Given the description of an element on the screen output the (x, y) to click on. 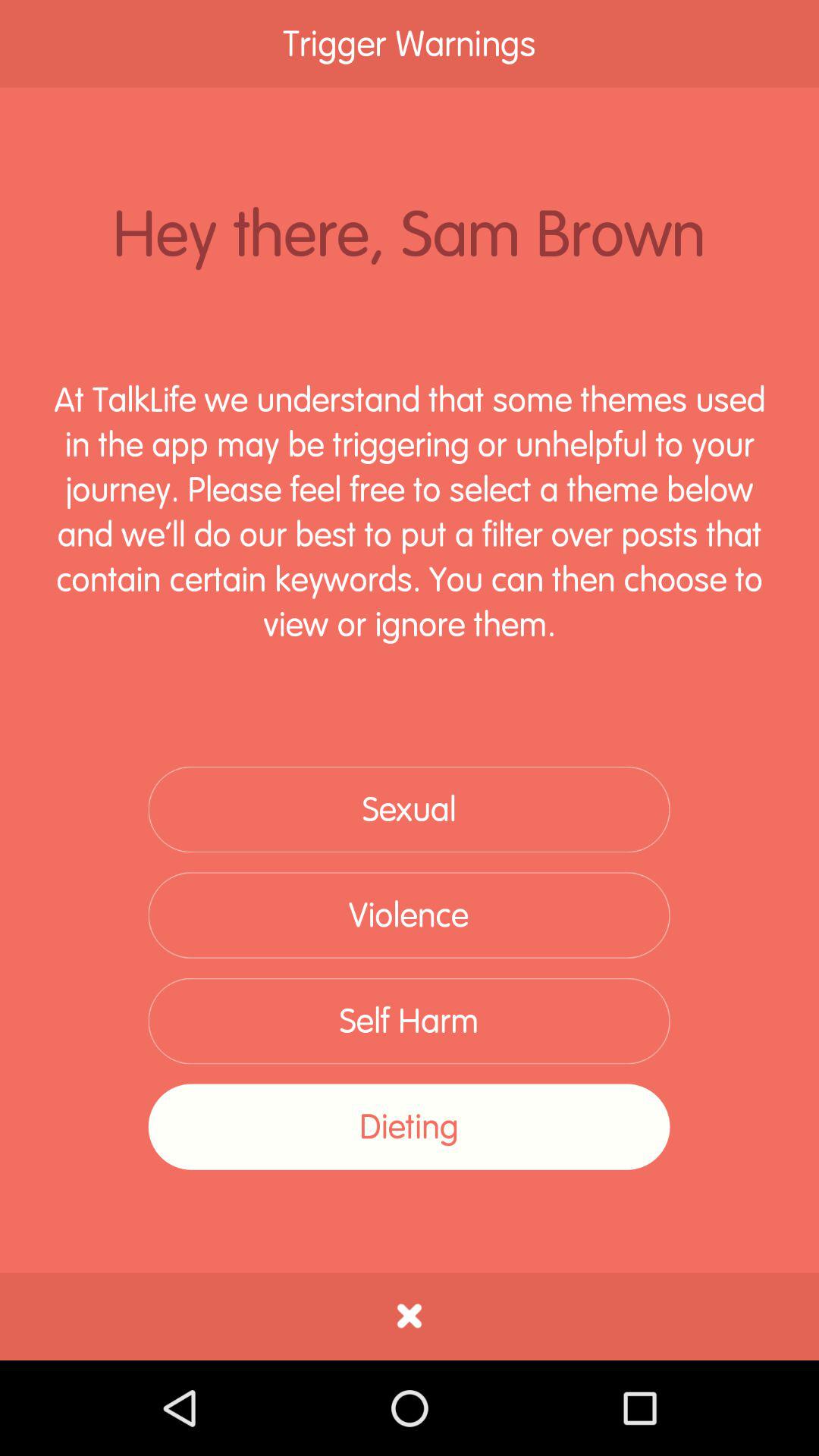
turn on the dieting (408, 1126)
